Given the description of an element on the screen output the (x, y) to click on. 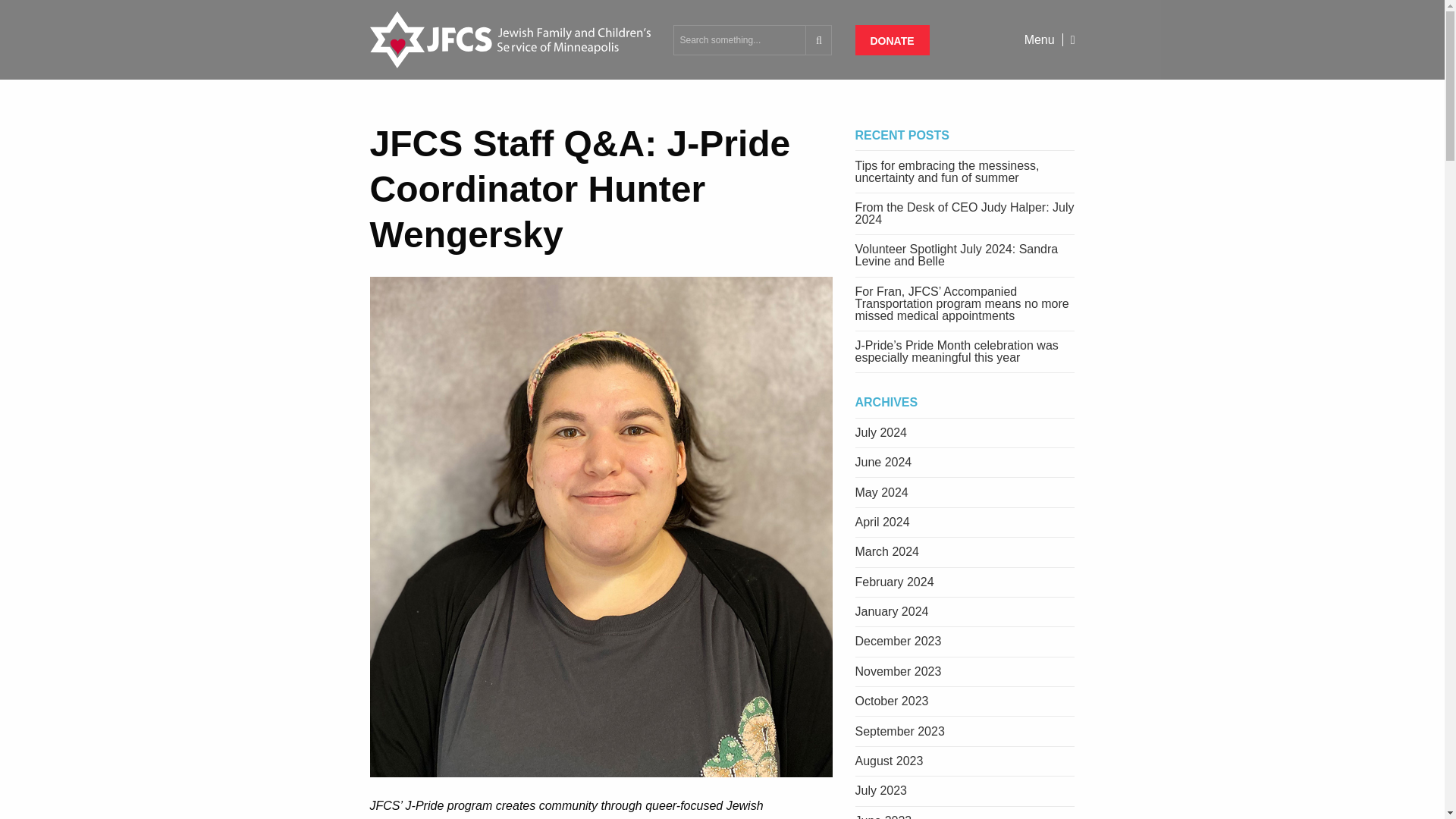
Menu (1050, 39)
December 2023 (965, 641)
March 2024 (965, 552)
October 2023 (965, 701)
June 2024 (965, 462)
DONATE (893, 40)
July 2024 (965, 432)
April 2024 (965, 522)
From the Desk of CEO Judy Halper: July 2024 (965, 214)
May 2024 (965, 491)
September 2023 (965, 731)
November 2023 (965, 672)
Volunteer Spotlight July 2024: Sandra Levine and Belle (965, 255)
January 2024 (965, 612)
